Given the description of an element on the screen output the (x, y) to click on. 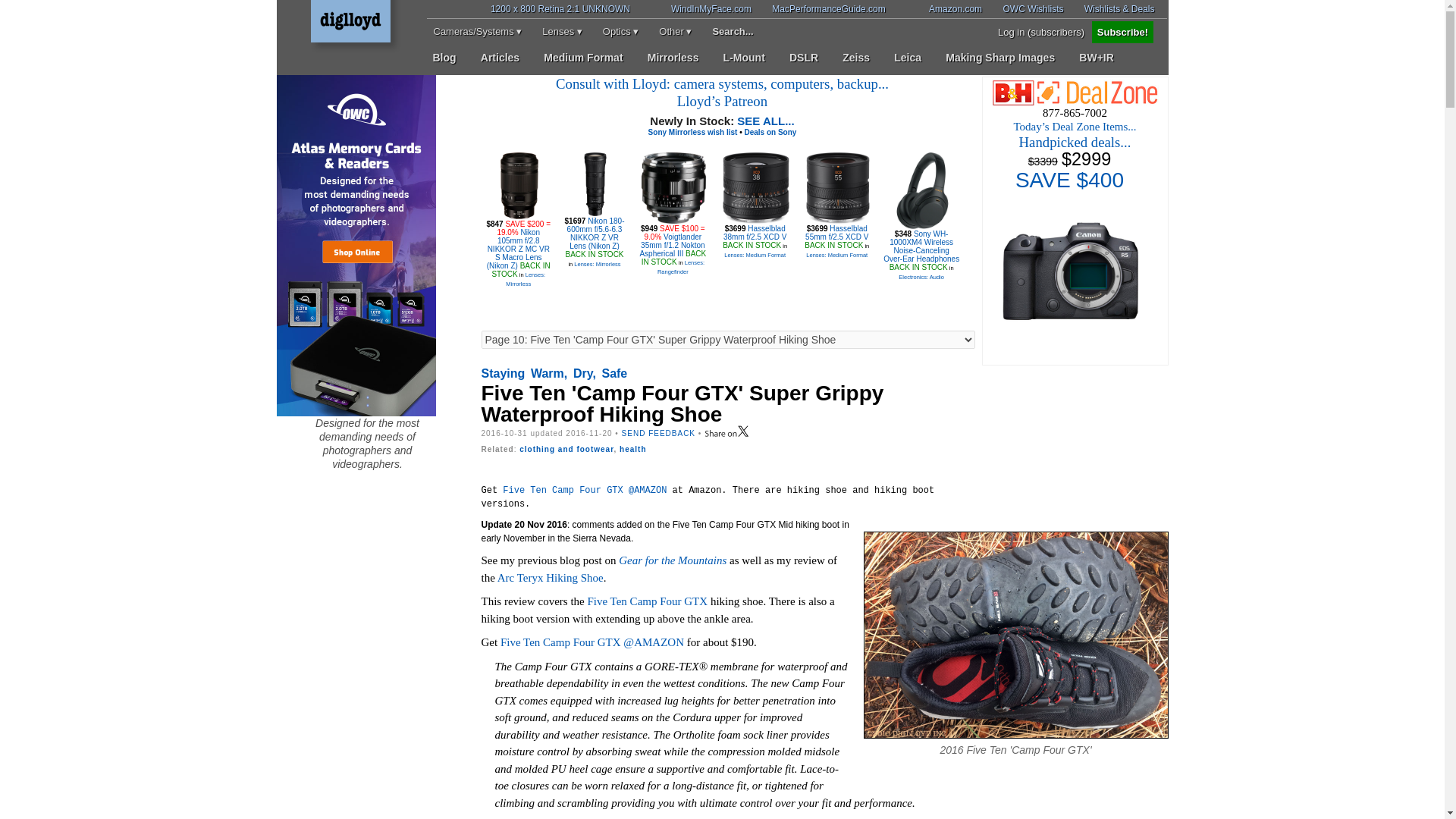
OWC Wishlists (1023, 9)
Amazon.com (946, 9)
1200 x 800 Retina 2:1 UNKNOWN         (570, 9)
MacPerformanceGuide.com (819, 9)
WindInMyFace.com (701, 9)
